Given the description of an element on the screen output the (x, y) to click on. 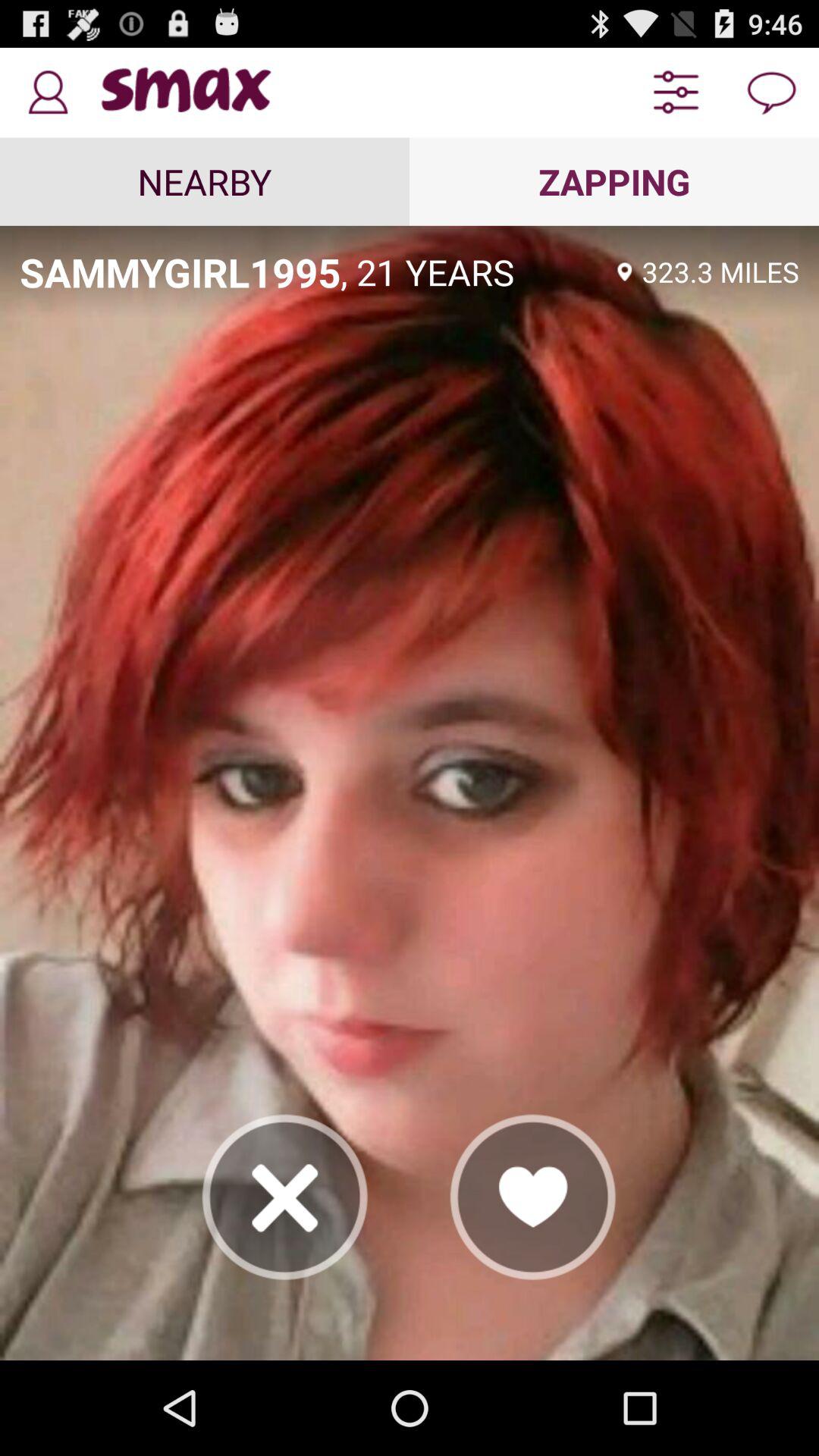
launch the icon above the nearby (47, 92)
